Given the description of an element on the screen output the (x, y) to click on. 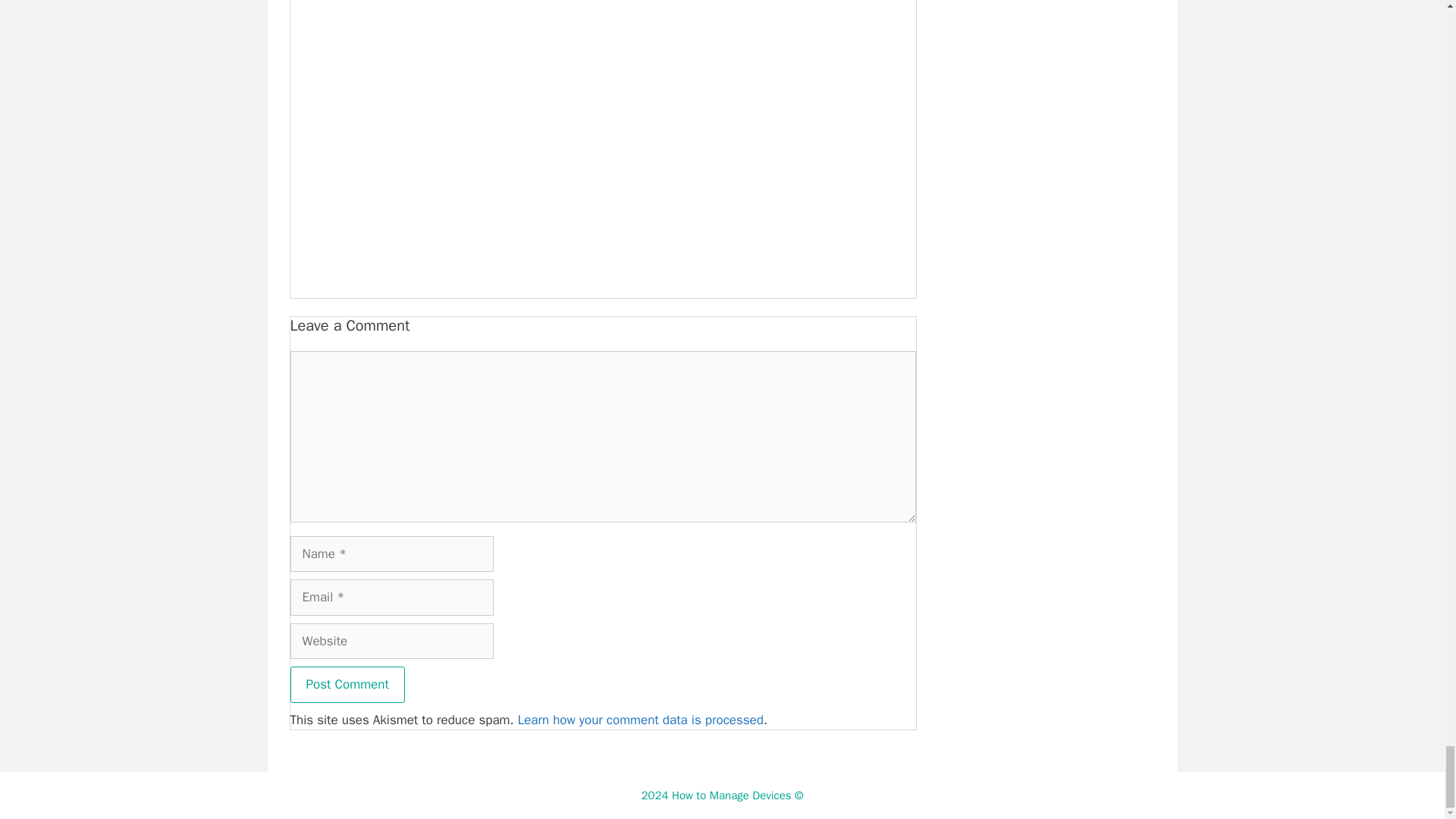
Learn how your comment data is processed (640, 719)
Post Comment (346, 684)
Post Comment (346, 684)
